Given the description of an element on the screen output the (x, y) to click on. 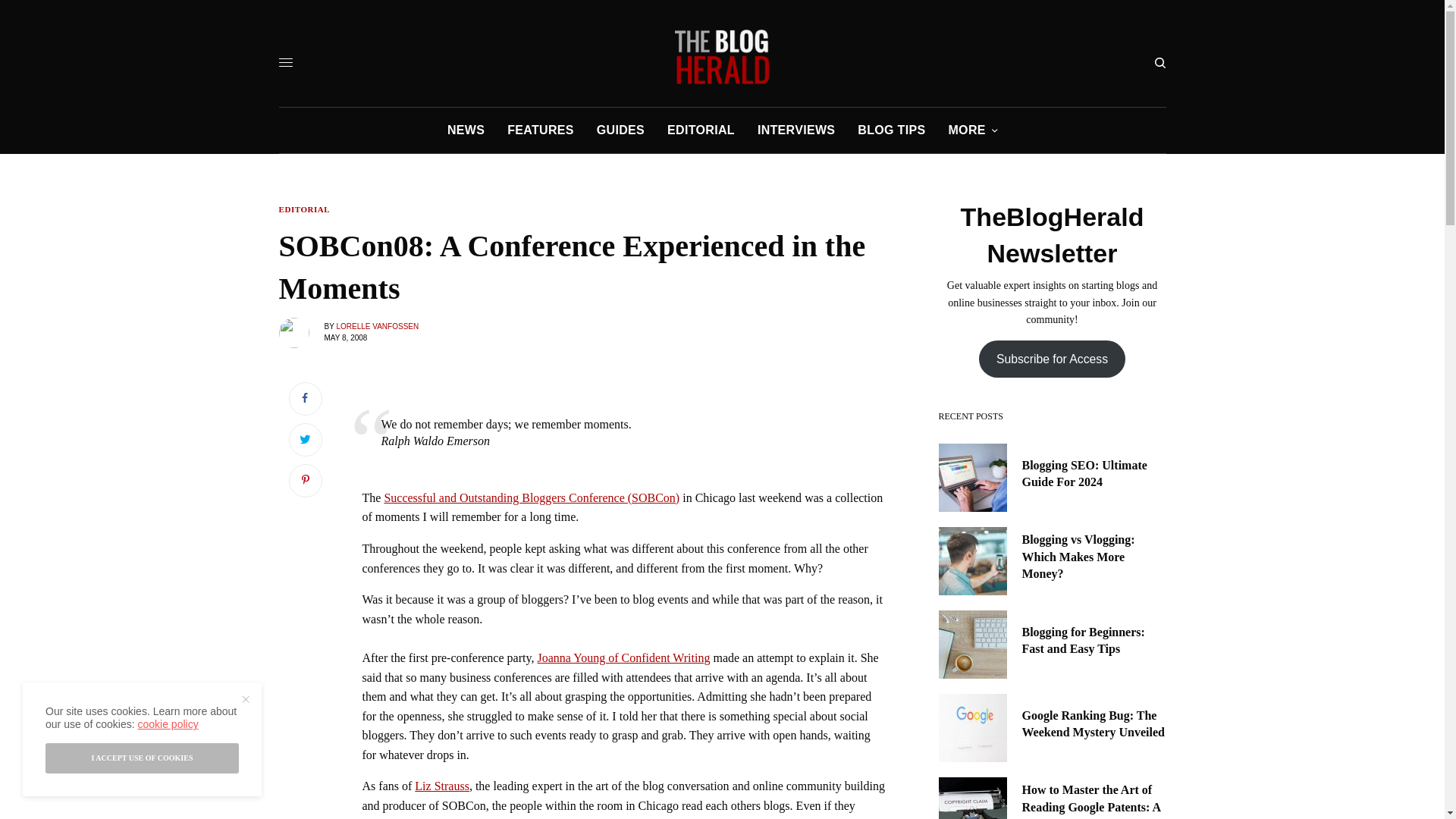
EDITORIAL (700, 130)
Joanna Young of Confident Writing (623, 657)
FEATURES (539, 130)
MORE (972, 130)
Successful and Outstanding Bloggers - Liz Strauss (441, 785)
EDITORIAL (304, 209)
Joanna Young (623, 657)
BLOG TIPS (890, 130)
NEWS (465, 130)
The Blog Herald (722, 56)
Posts by Lorelle VanFossen (377, 326)
Blogging SEO: Ultimate Guide For 2024 (1094, 474)
SOBCon (531, 497)
GUIDES (620, 130)
Liz Strauss (441, 785)
